Given the description of an element on the screen output the (x, y) to click on. 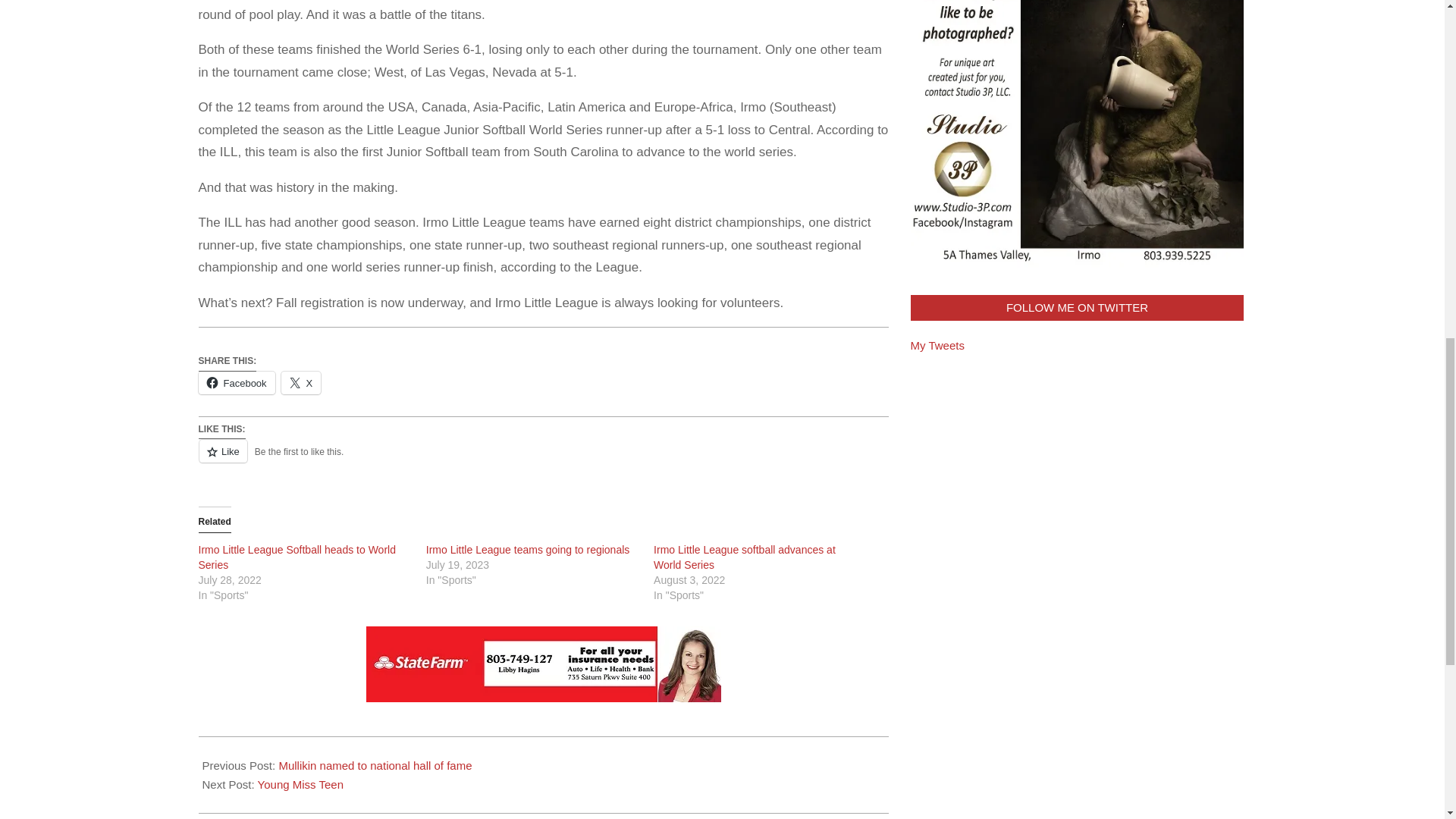
Mullikin named to national hall of fame (374, 765)
Facebook (236, 382)
X (301, 382)
Click to share on Facebook (236, 382)
Irmo Little League softball advances at World Series (744, 556)
Young Miss Teen (300, 784)
Irmo Little League Softball heads to World Series (297, 556)
Irmo Little League Softball heads to World Series (297, 556)
Irmo Little League teams going to regionals (528, 549)
Click to share on X (301, 382)
